Given the description of an element on the screen output the (x, y) to click on. 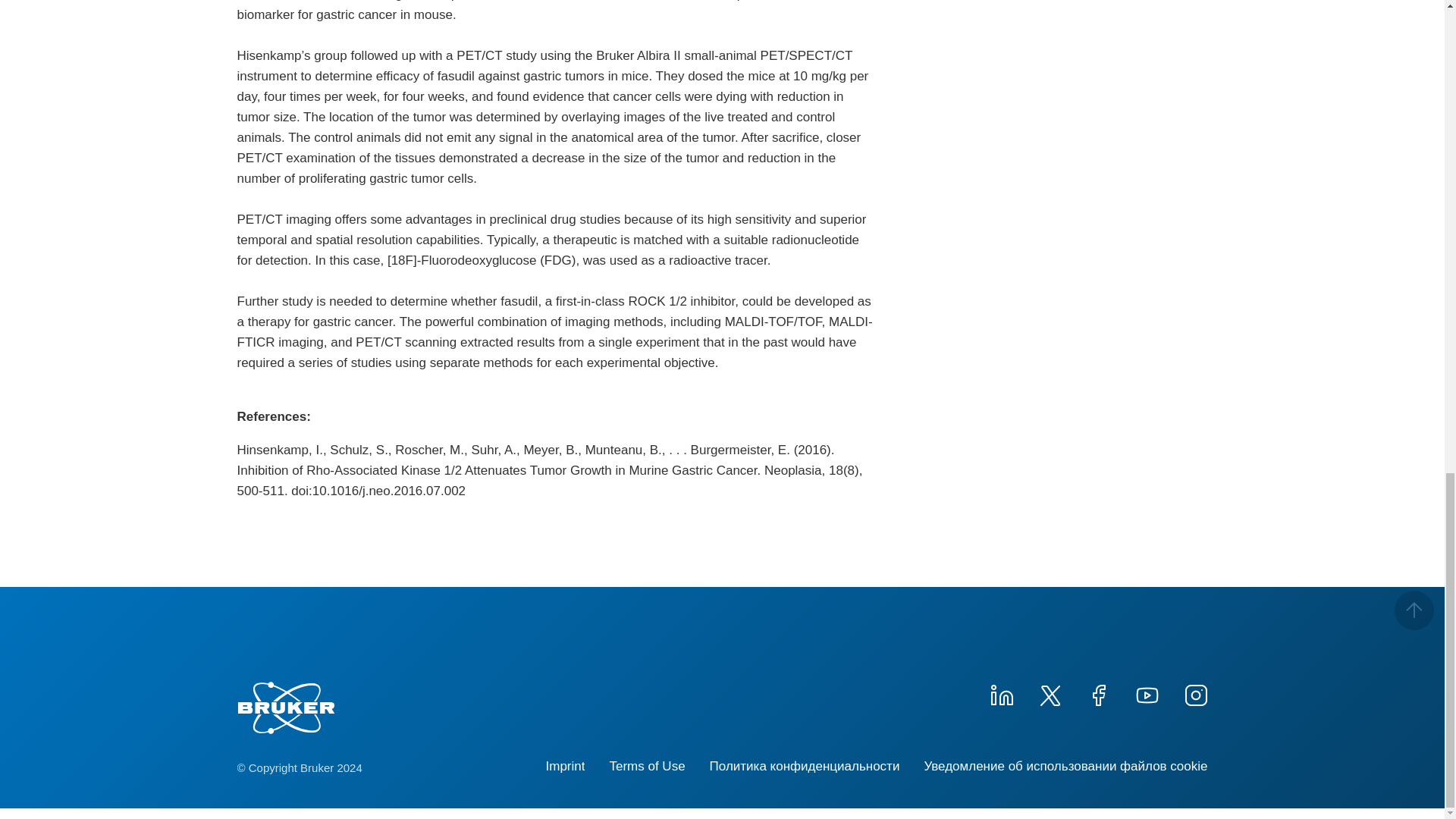
linkedin (1000, 693)
instagram (1194, 693)
youtube (1146, 693)
Terms of Use (646, 766)
twitter (1048, 693)
facebook (1097, 693)
Imprint (565, 766)
